Given the description of an element on the screen output the (x, y) to click on. 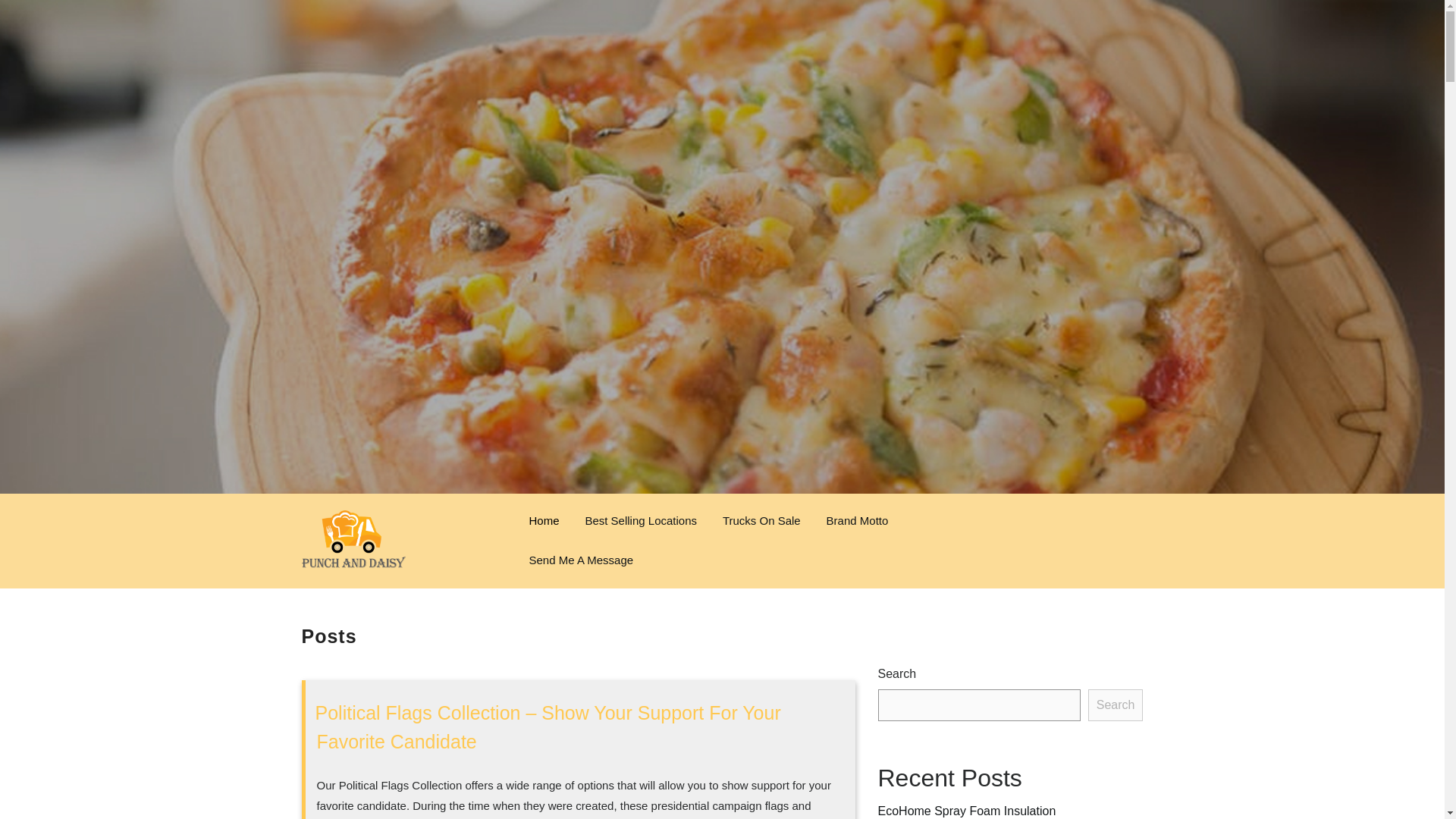
Trucks On Sale (761, 521)
Brand Motto (857, 521)
Best Selling Locations (640, 521)
Home (543, 521)
Send Me A Message (580, 560)
